Given the description of an element on the screen output the (x, y) to click on. 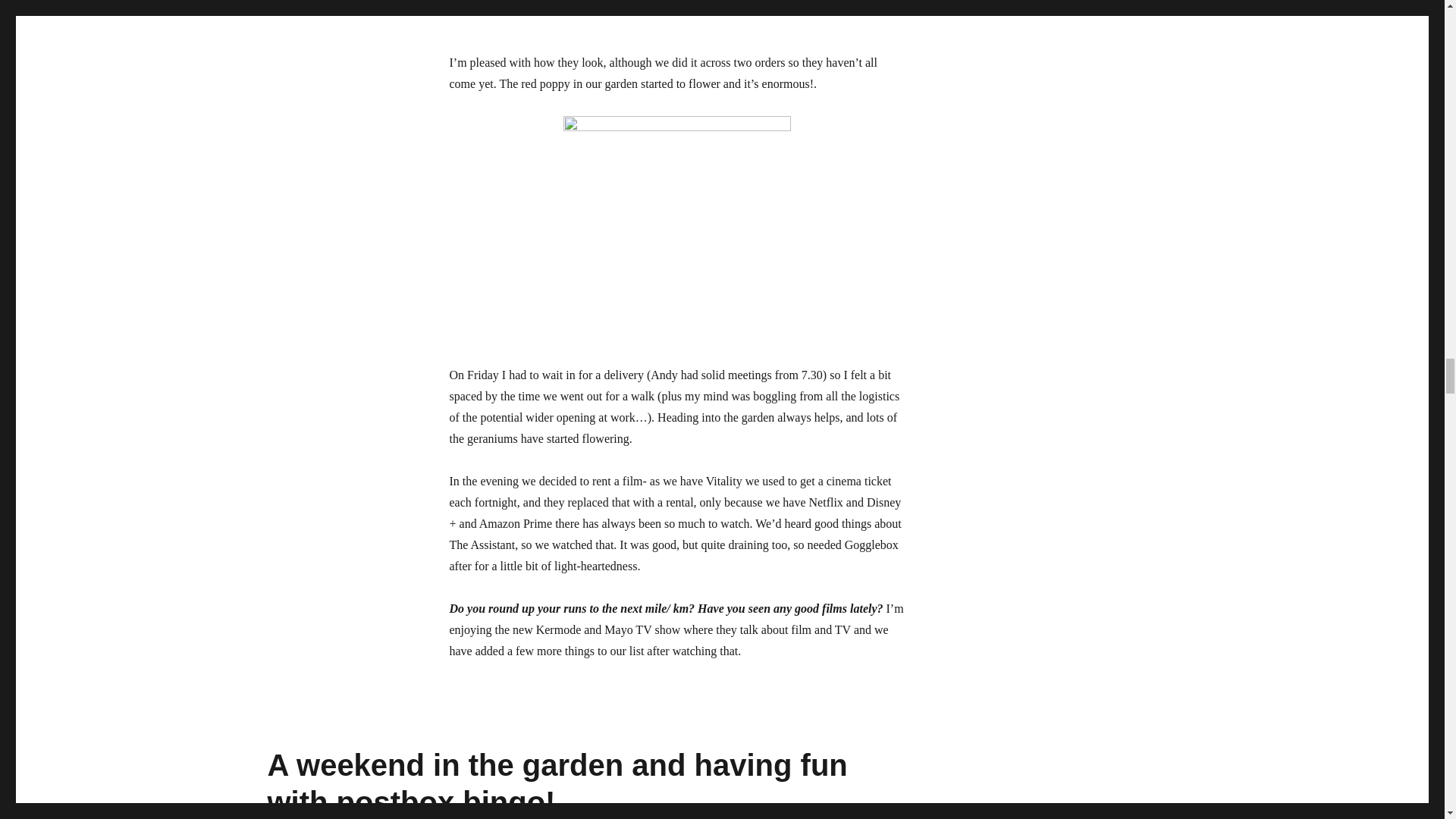
A weekend in the garden and having fun with postbox bingo! (556, 783)
